Given the description of an element on the screen output the (x, y) to click on. 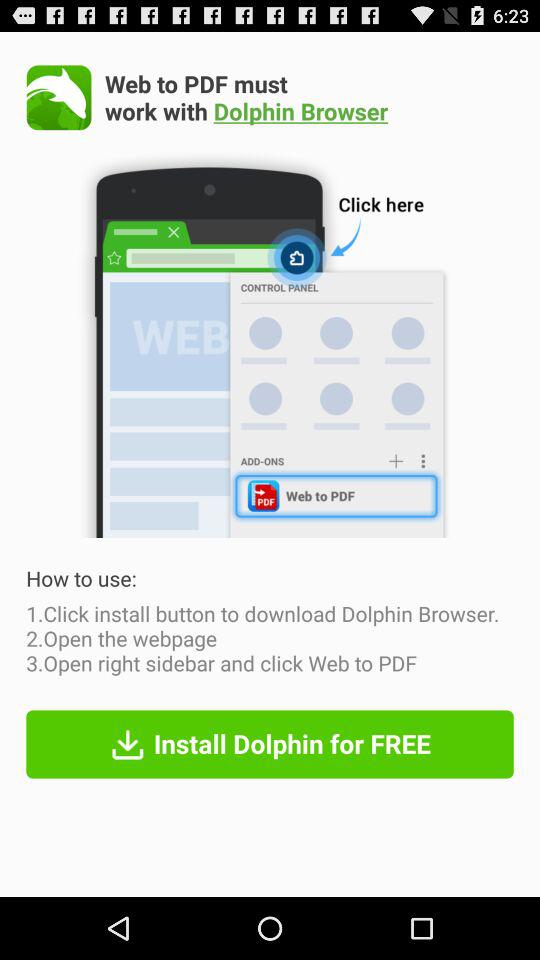
goto website (58, 97)
